Given the description of an element on the screen output the (x, y) to click on. 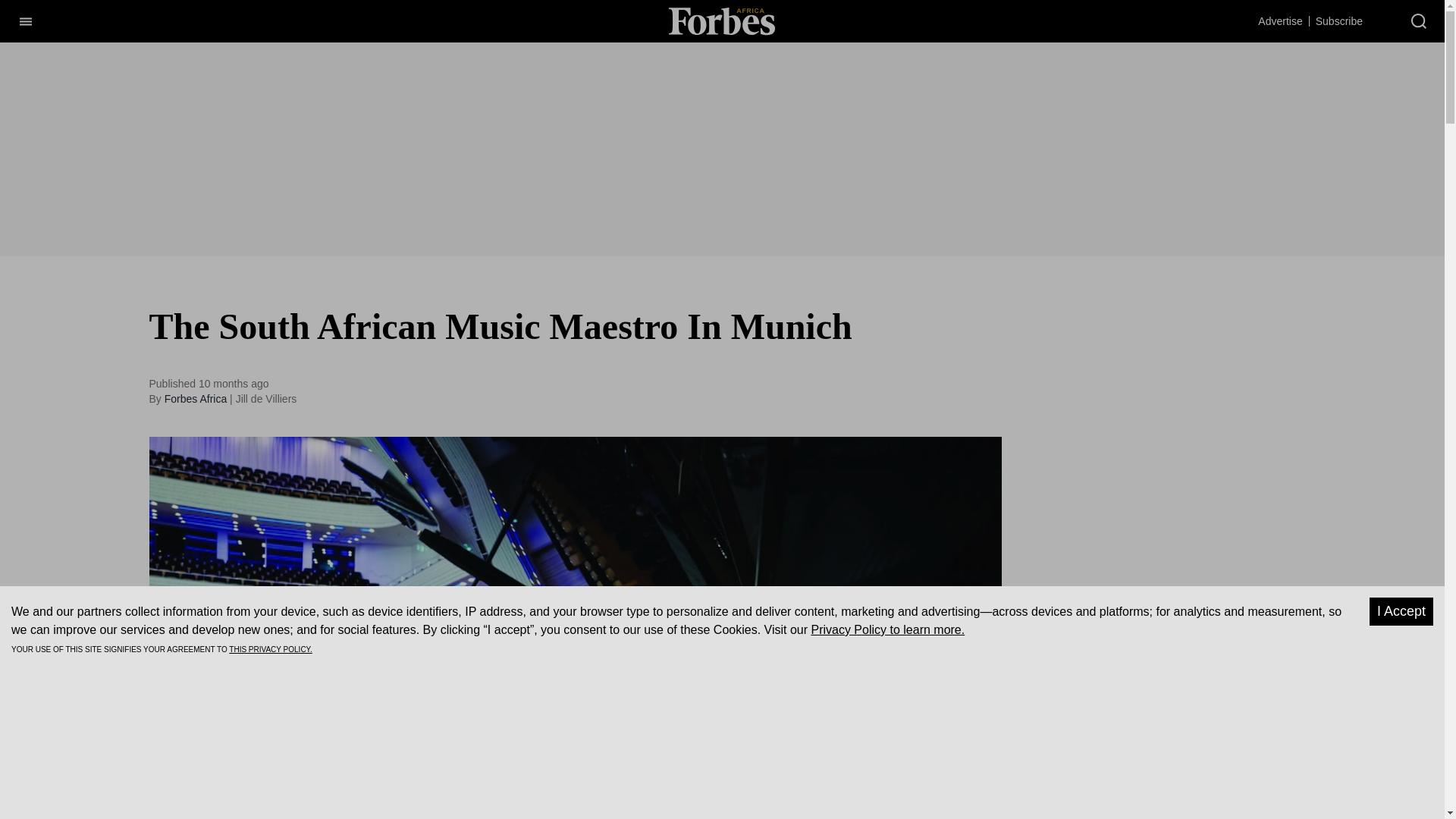
THIS PRIVACY POLICY. (269, 649)
Forbes Africa (195, 398)
Forbes Africa (721, 20)
3rd party ad content (1162, 405)
Advertise (1279, 20)
Subscribe (1339, 20)
Privacy Policy to learn more. (886, 629)
I Accept (1401, 611)
